Given the description of an element on the screen output the (x, y) to click on. 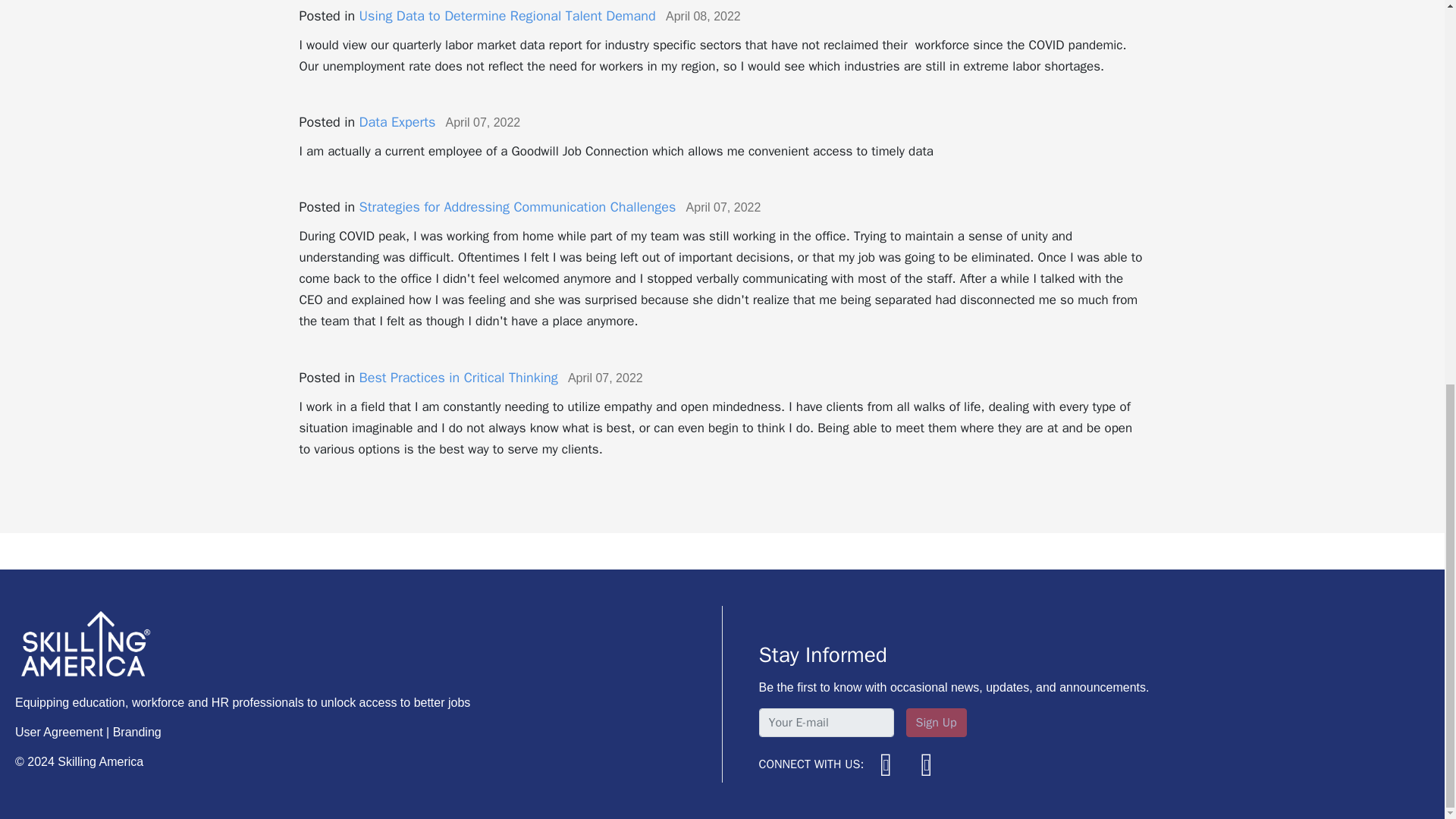
Data Experts (397, 121)
Sign Up (935, 722)
Sign Up (935, 722)
Branding (137, 731)
Using Data to Determine Regional Talent Demand (507, 15)
Best Practices in Critical Thinking (458, 377)
Strategies for Addressing Communication Challenges (518, 207)
User Agreement (58, 731)
